Given the description of an element on the screen output the (x, y) to click on. 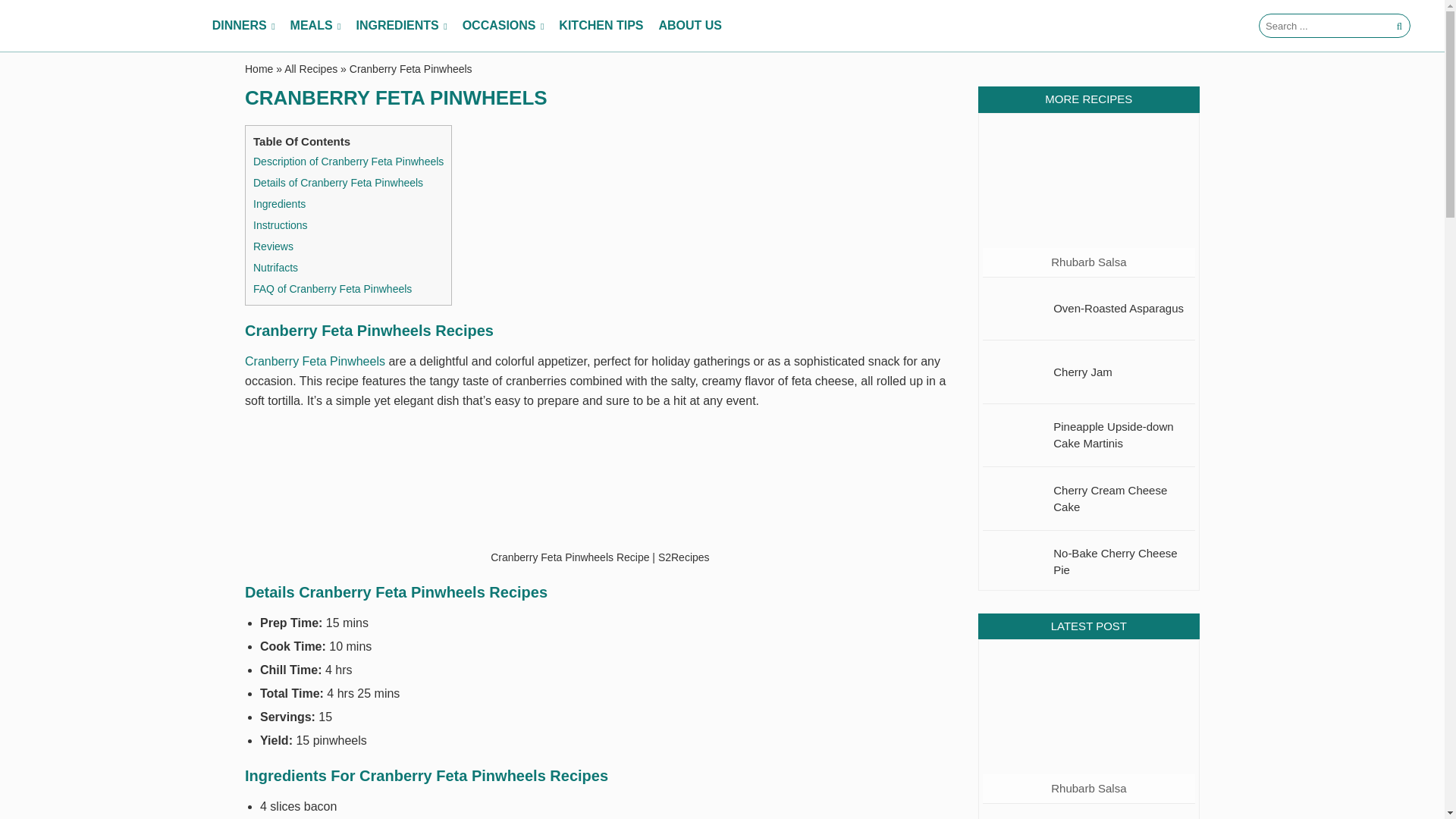
ABOUT US (690, 25)
Dinners (243, 25)
OCCASIONS (503, 25)
DINNERS (243, 25)
INGREDIENTS (400, 25)
MEALS (314, 25)
OCCASIONS (503, 25)
Meals (314, 25)
KITCHEN TIPS (601, 25)
INGREDIENTS (400, 25)
